Given the description of an element on the screen output the (x, y) to click on. 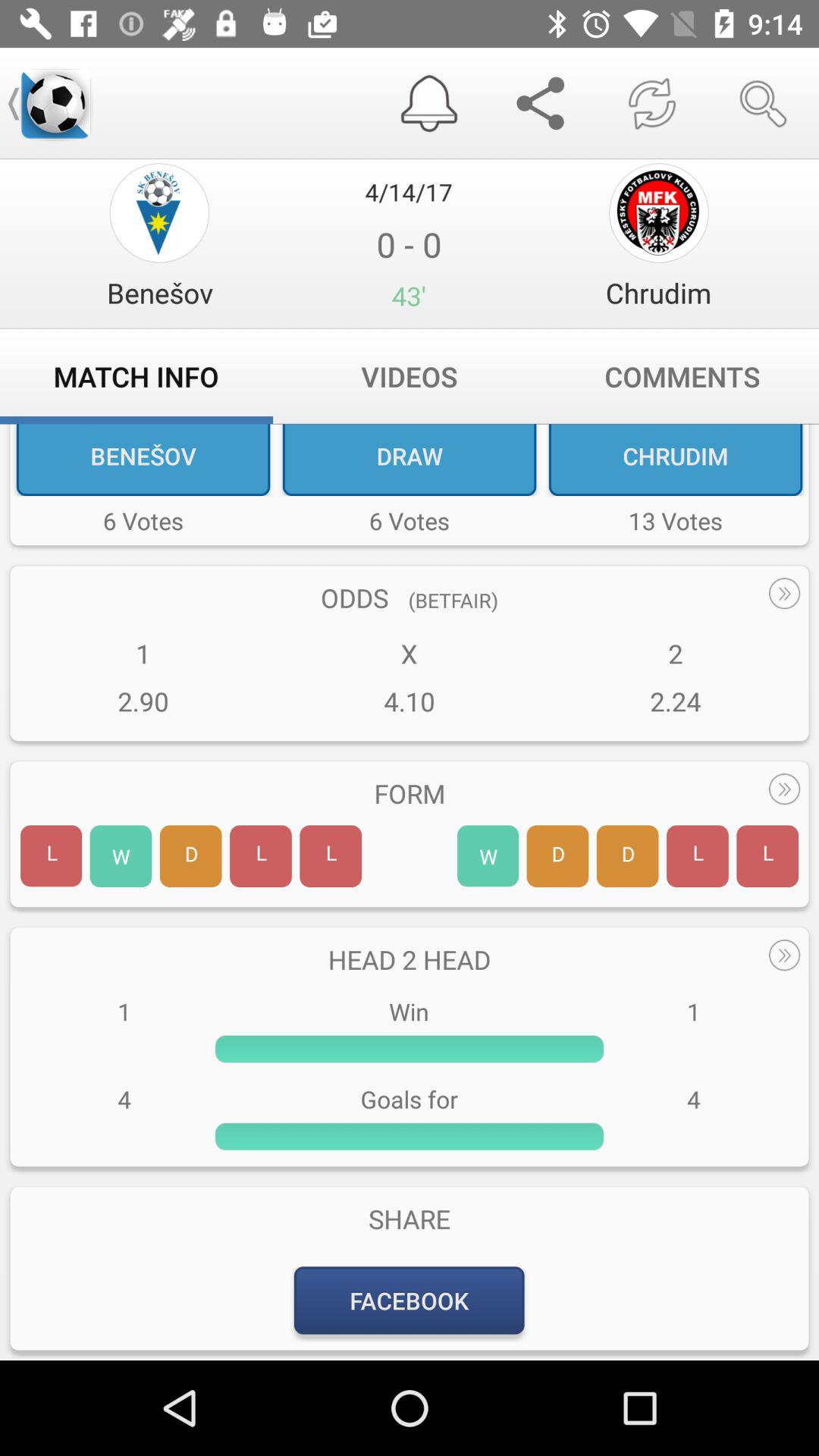
go to chrudim (658, 212)
